Given the description of an element on the screen output the (x, y) to click on. 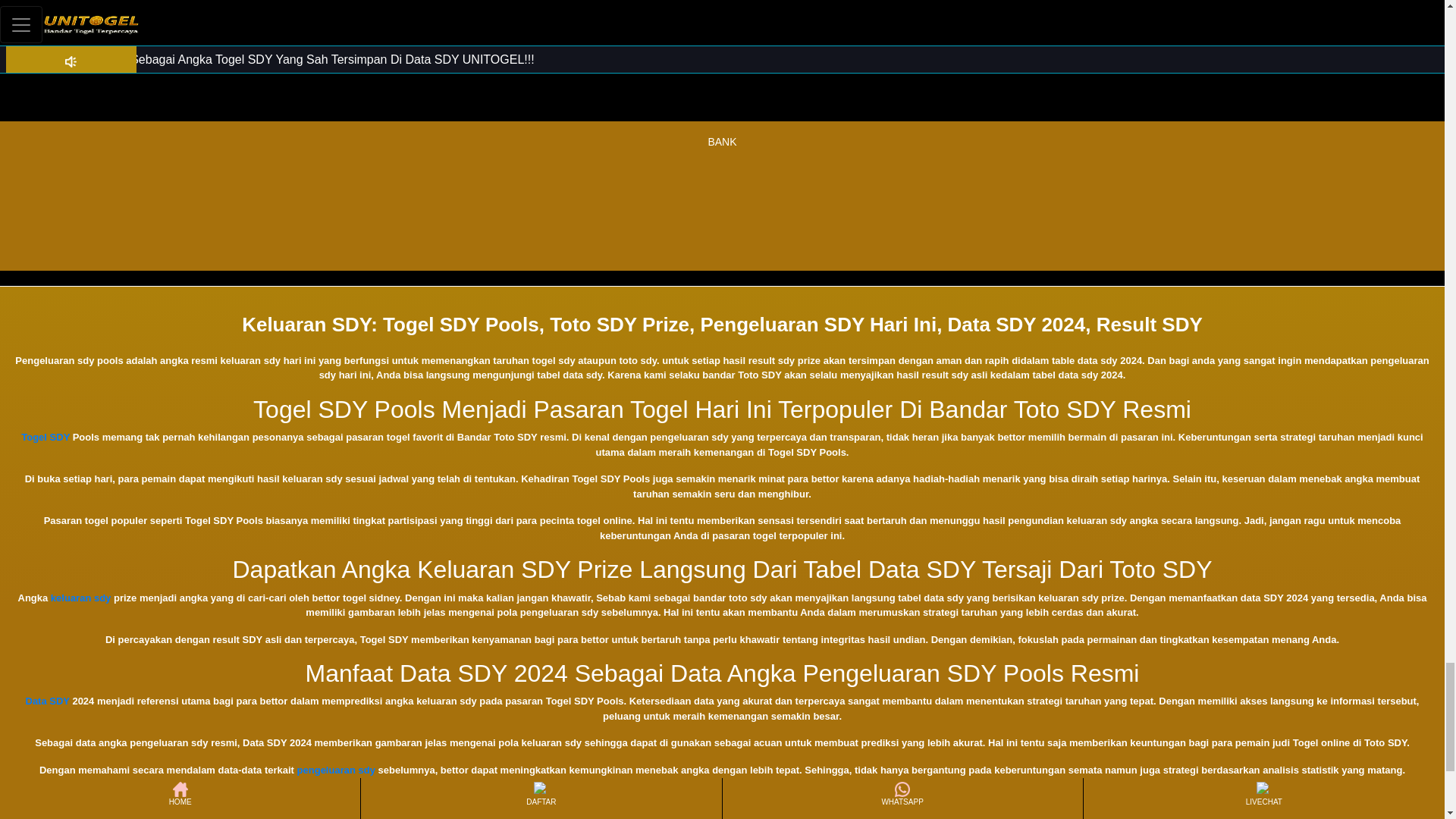
keluaran sdy (81, 597)
Togel SDY (45, 437)
Data SDY (47, 700)
pengeluaran sdy (336, 769)
